Given the description of an element on the screen output the (x, y) to click on. 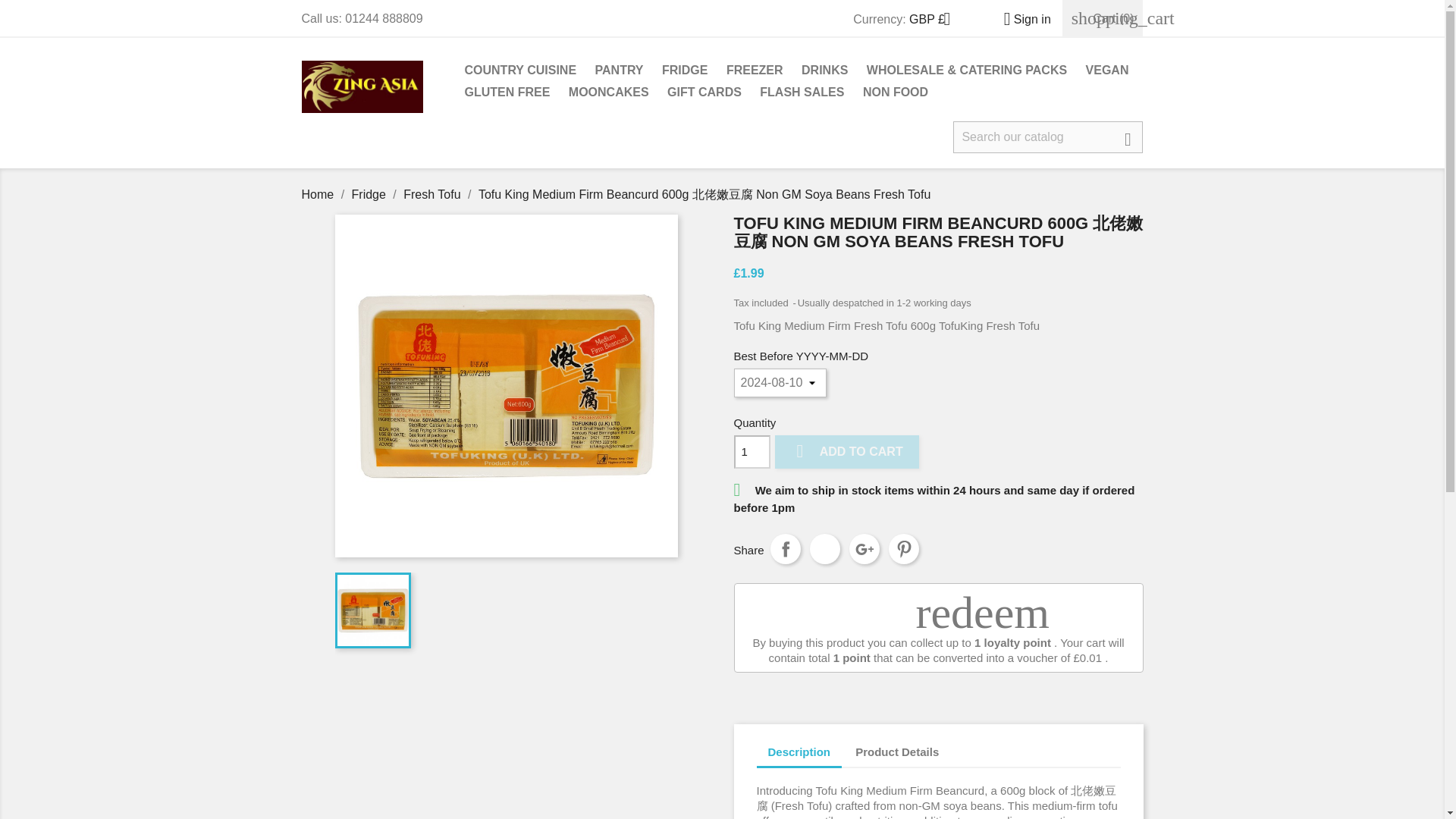
Tweet (824, 548)
1 (751, 451)
Log in to your customer account (1020, 19)
Share (785, 548)
PANTRY (619, 71)
COUNTRY CUISINE (520, 71)
